Given the description of an element on the screen output the (x, y) to click on. 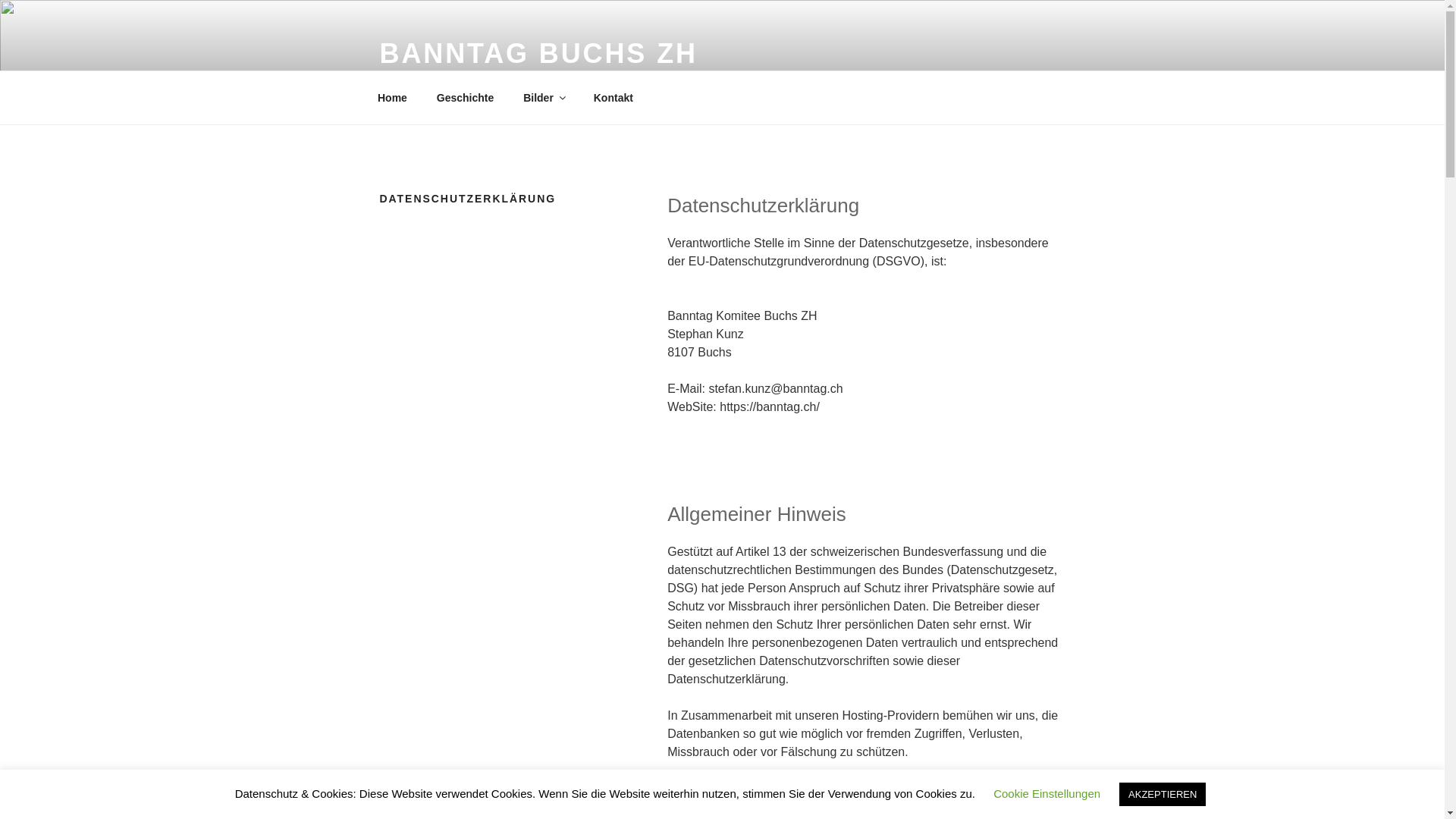
Geschichte Element type: text (464, 97)
Kontakt Element type: text (613, 97)
BANNTAG BUCHS ZH Element type: text (537, 53)
Home Element type: text (392, 97)
Bilder Element type: text (543, 97)
Cookie Einstellungen Element type: text (1046, 793)
AKZEPTIEREN Element type: text (1162, 794)
